Given the description of an element on the screen output the (x, y) to click on. 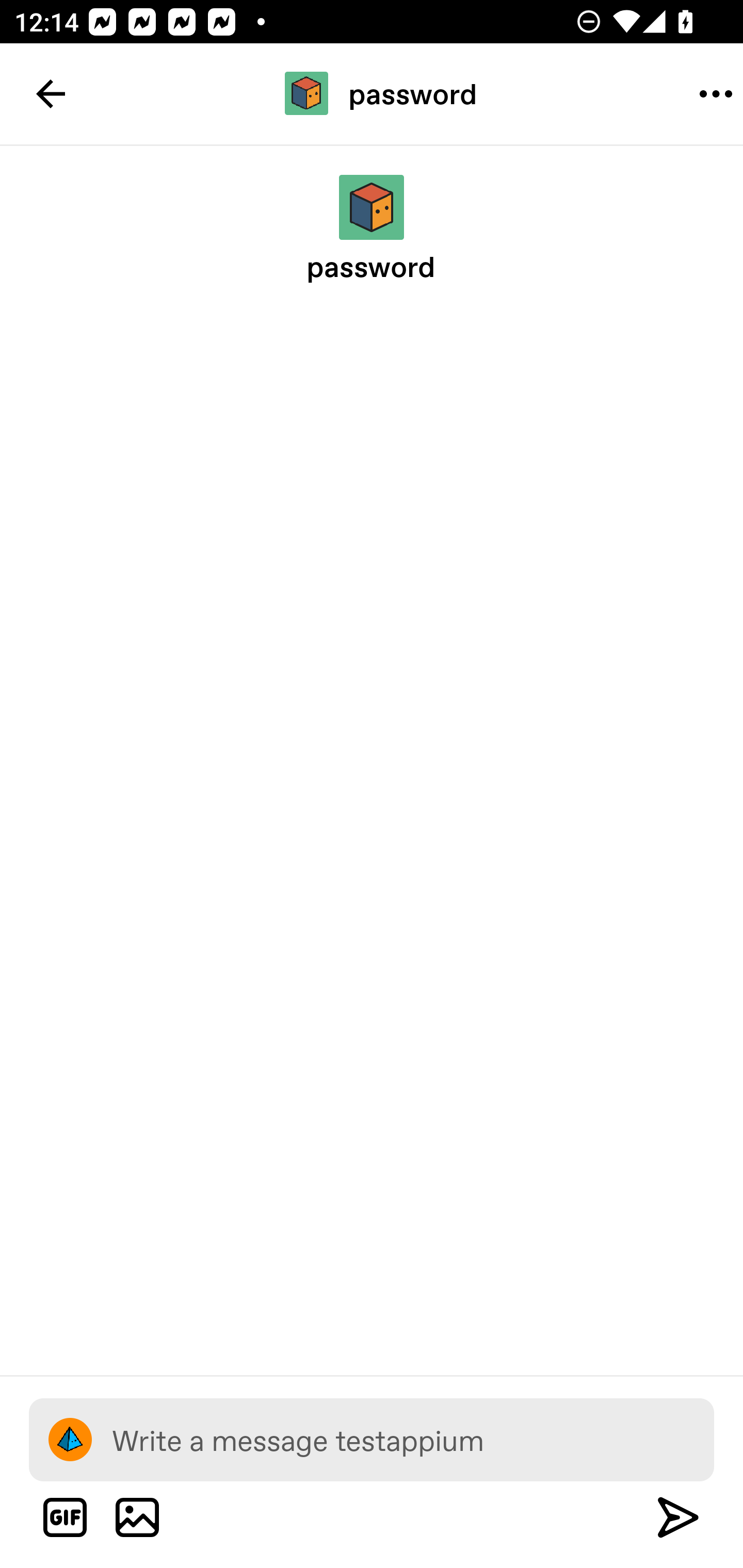
Navigate up (50, 93)
password (371, 92)
Write a message testappium (413, 1439)
